Given the description of an element on the screen output the (x, y) to click on. 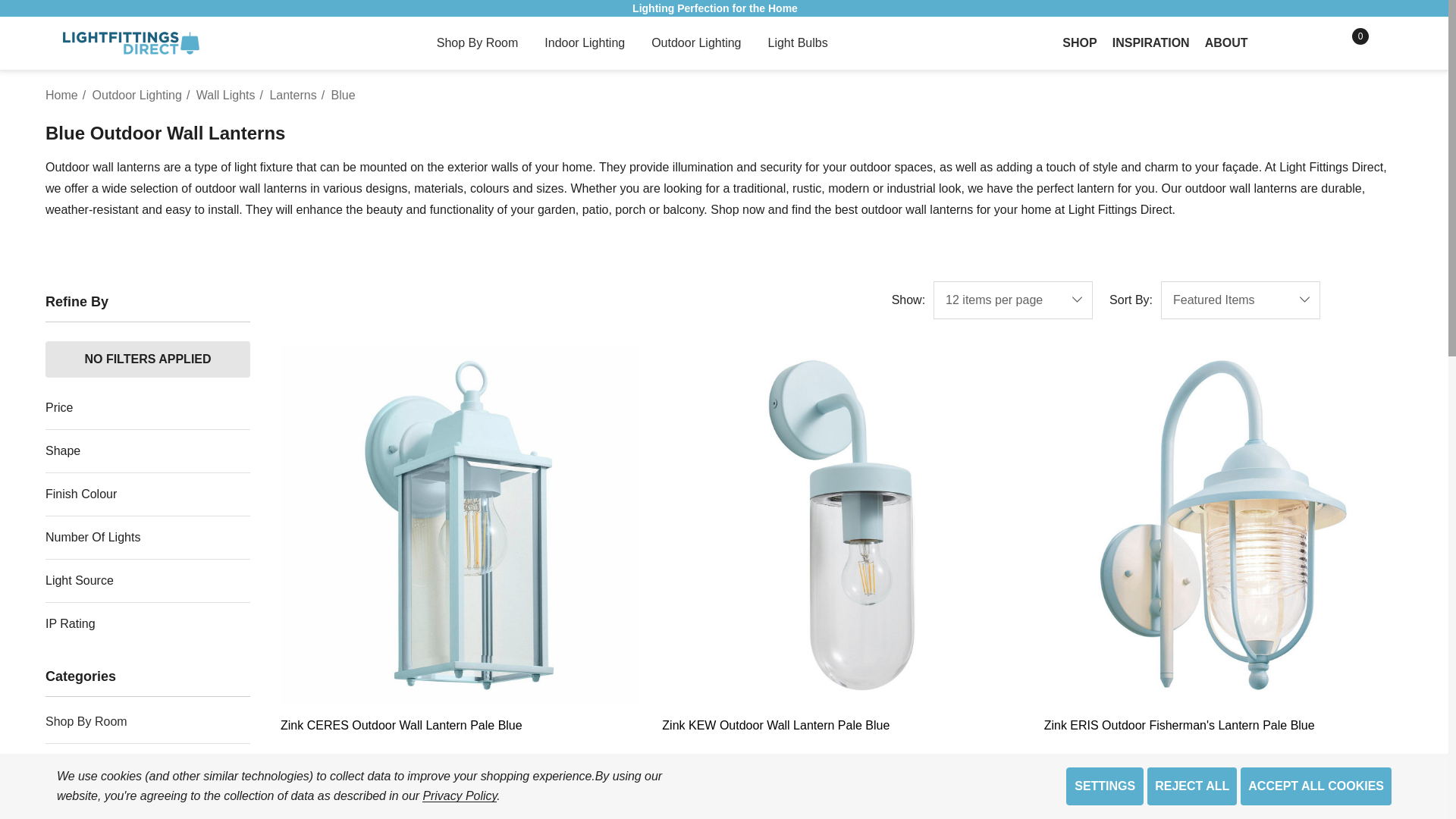
ACCOUNT ACCOUNT (1318, 43)
Zink KEW Outdoor Wall Lantern Pale Blue Main Image (841, 524)
Light Fittings Direct (130, 42)
Zink CERES Outdoor Wall Lantern Pale Blue Main Image (460, 524)
Shop By Room (477, 43)
YOUR CART YOUR CART (1352, 43)
LIVE HELP LIVE HELP (1386, 43)
Zink ERIS Outdoor Fisherman's Lantern Pale Blue Main Image (1223, 524)
SEARCH SEARCH (1284, 43)
